Given the description of an element on the screen output the (x, y) to click on. 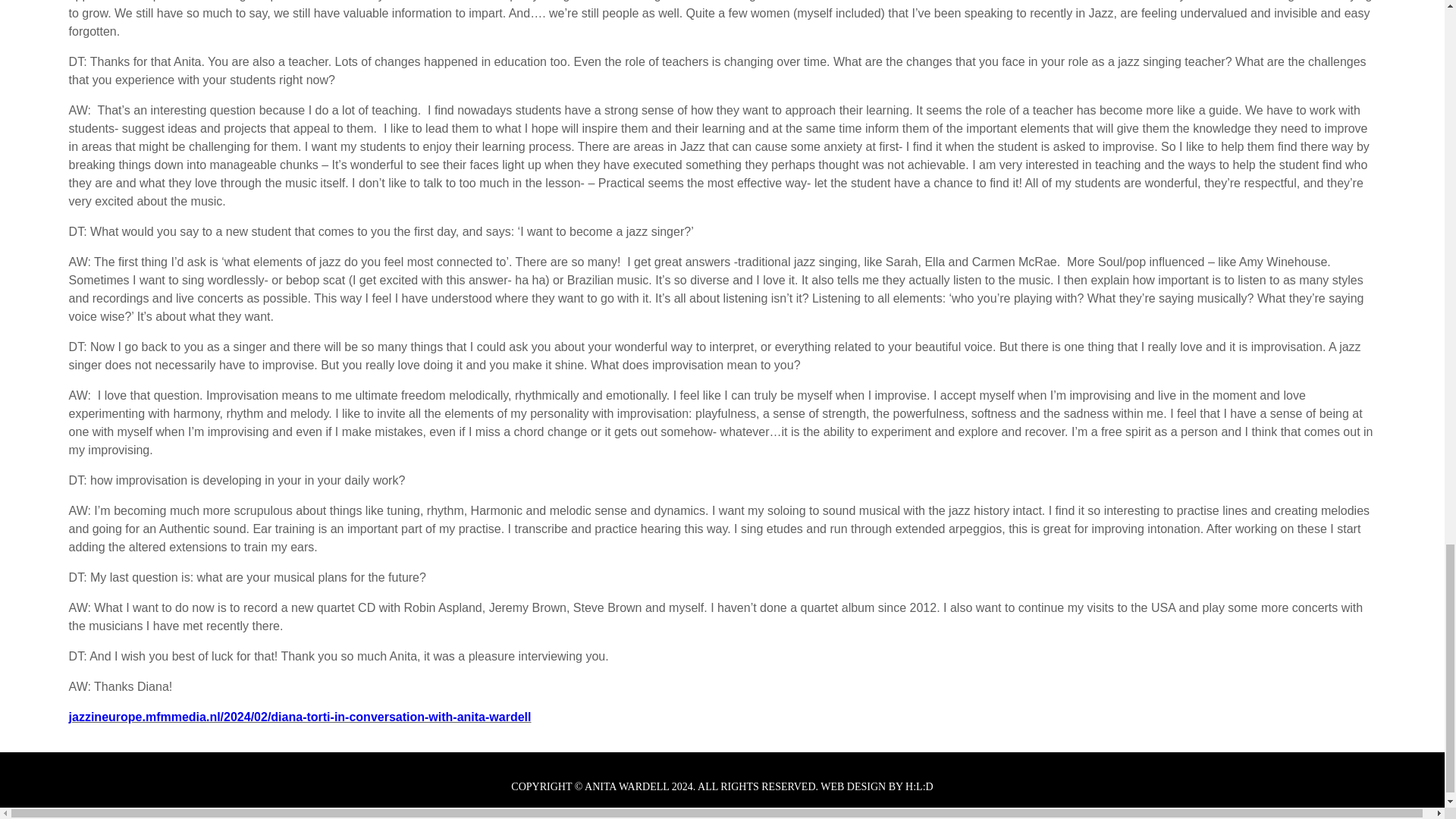
H:L:D (919, 786)
